Given the description of an element on the screen output the (x, y) to click on. 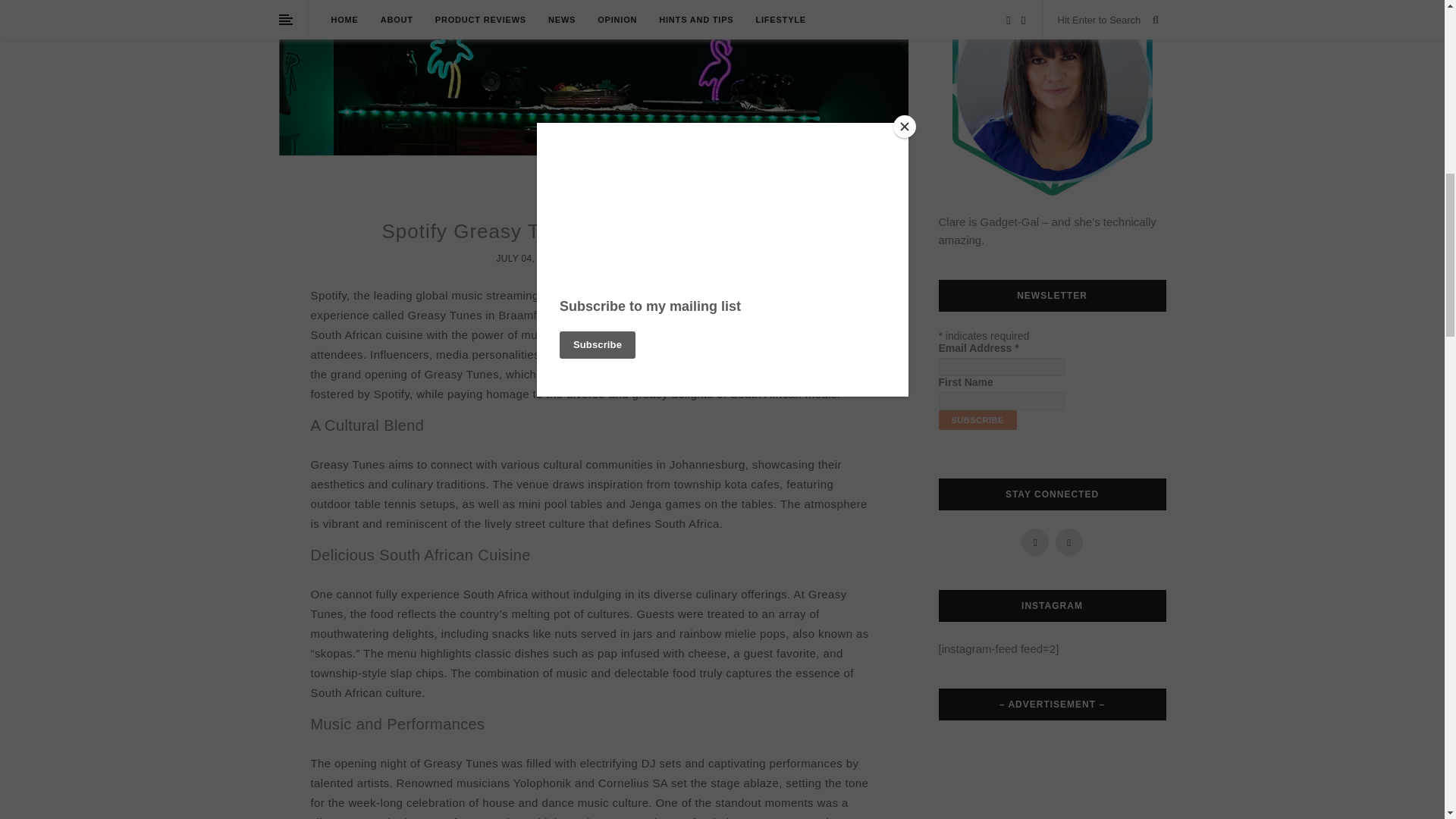
Subscribe (977, 419)
CLARE PETRA MATTHES (634, 258)
NEWS (592, 202)
